Given the description of an element on the screen output the (x, y) to click on. 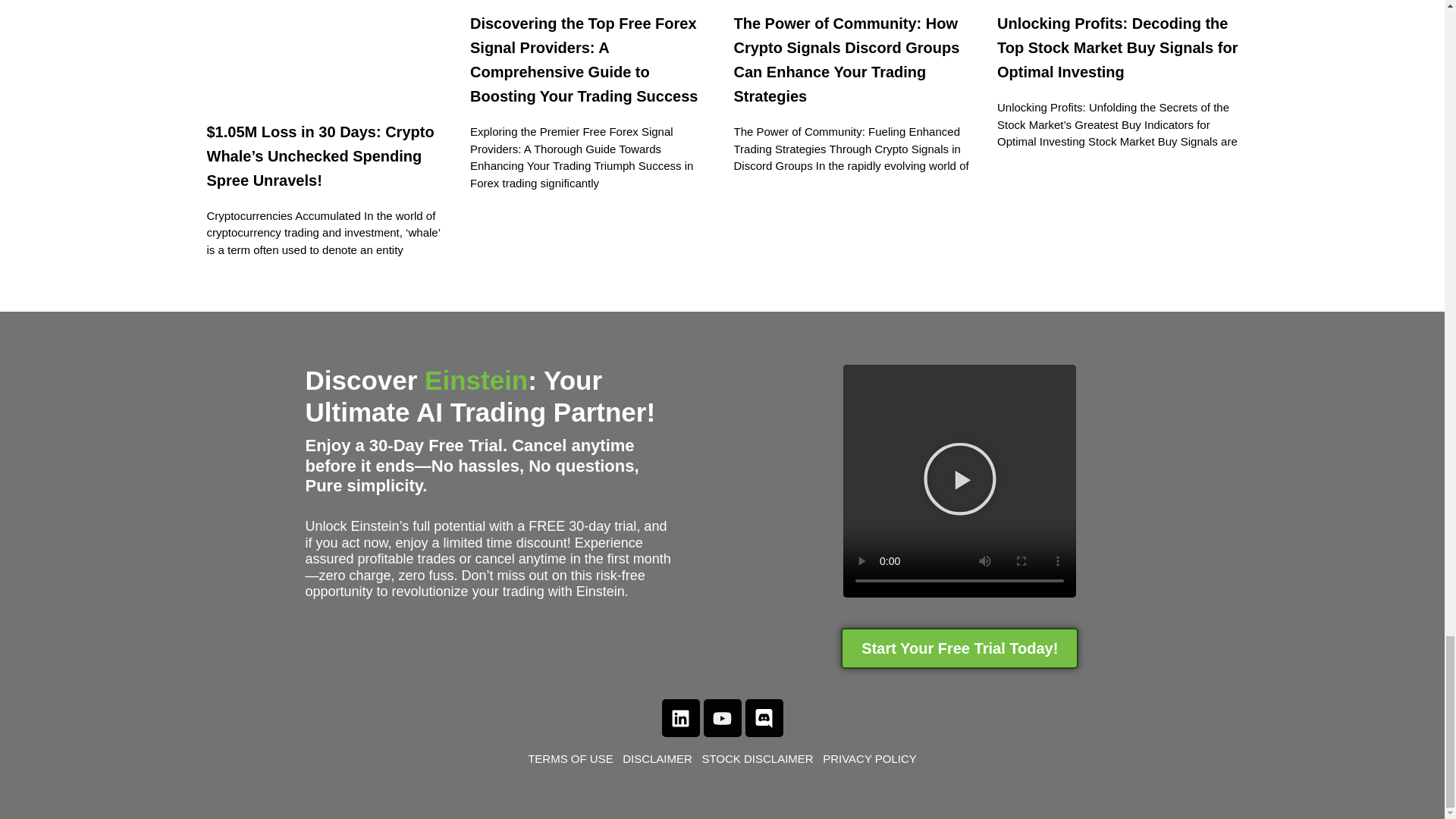
Start Your Free Trial Today! (959, 648)
STOCK DISCLAIMER   (760, 758)
DISCLAIMER (658, 758)
TERMS OF USE    (575, 758)
PRIVACY POLICY (869, 758)
